Given the description of an element on the screen output the (x, y) to click on. 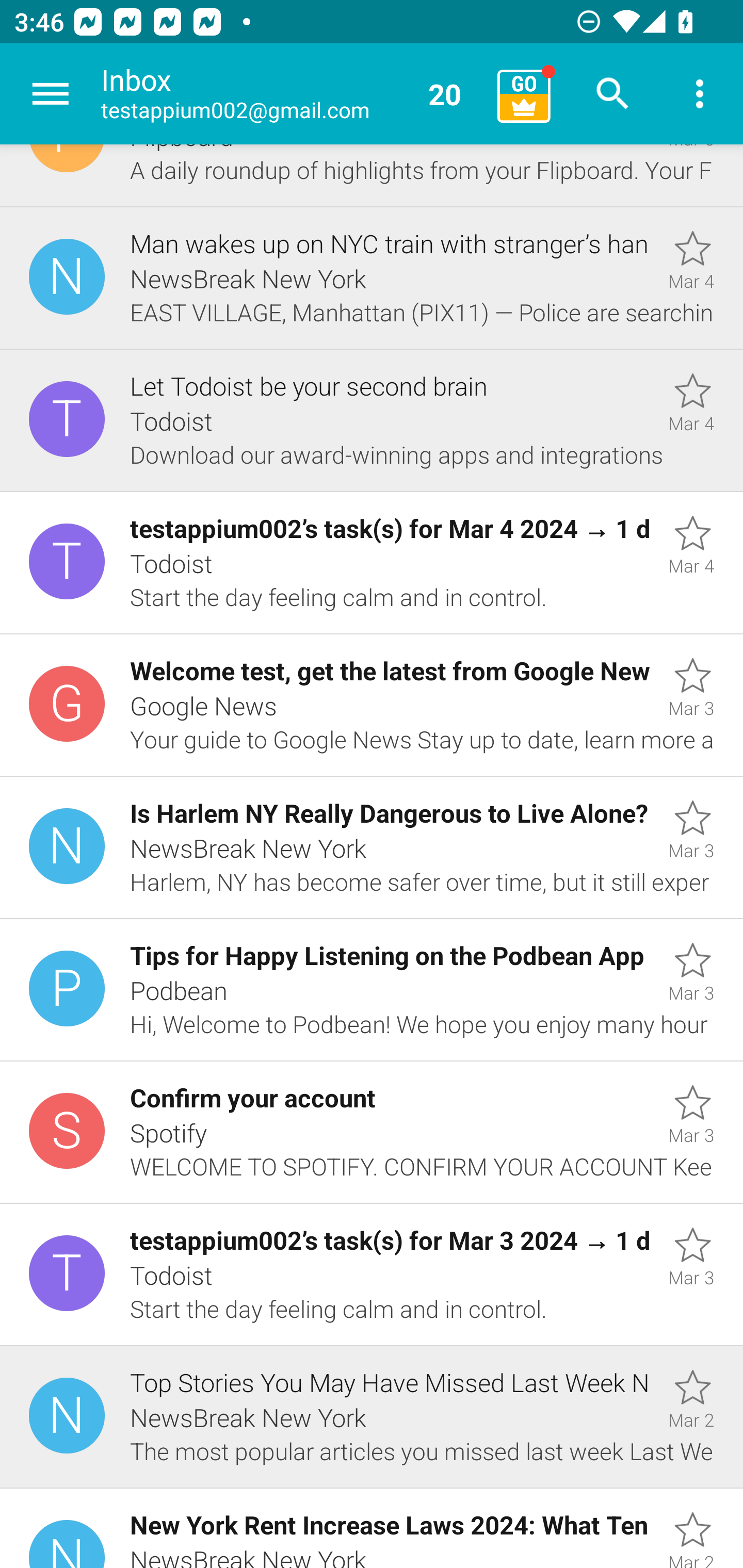
Navigate up (50, 93)
Inbox testappium002@gmail.com 20 (291, 93)
Search (612, 93)
More options (699, 93)
